Given the description of an element on the screen output the (x, y) to click on. 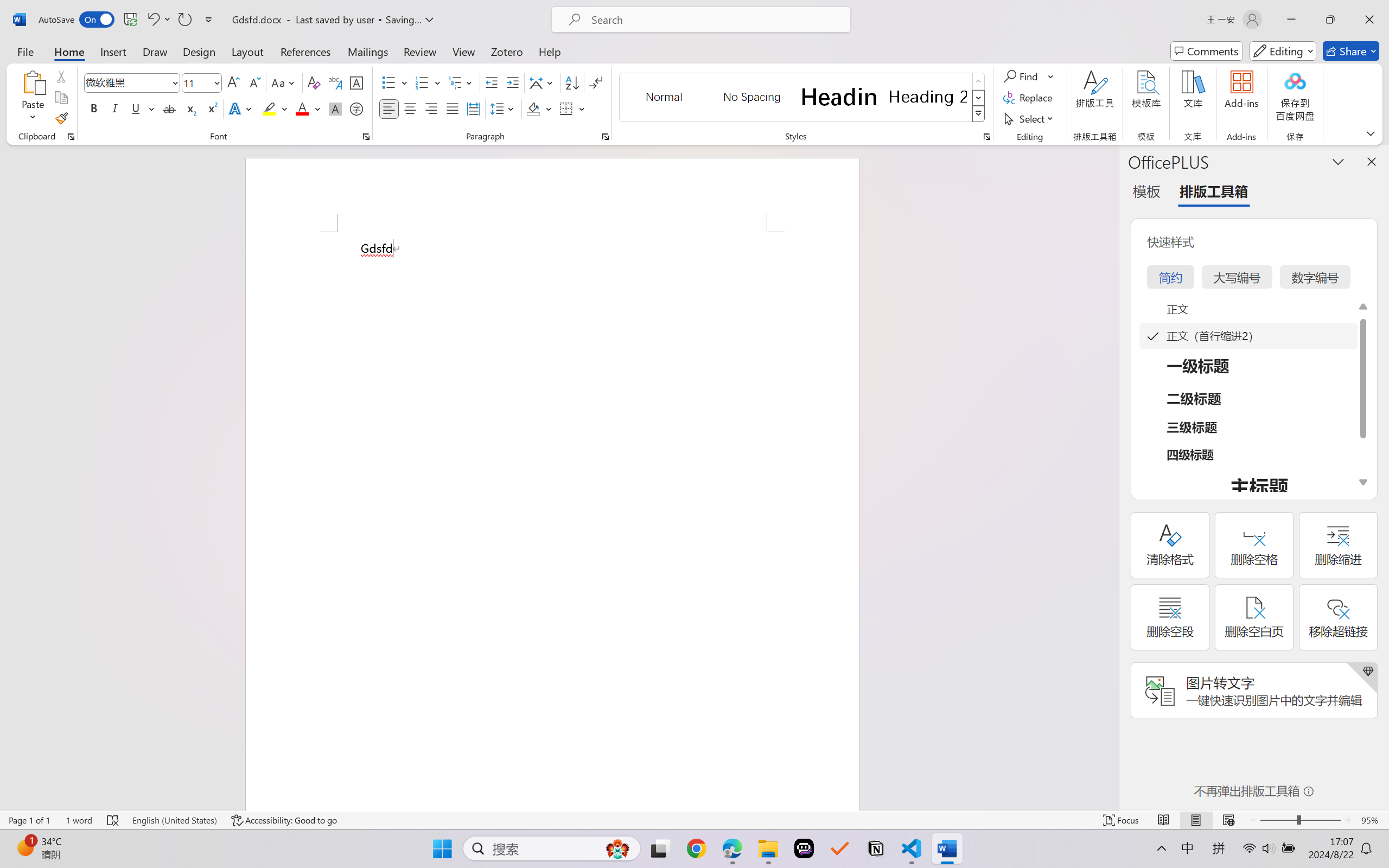
Font Color Red (302, 108)
Zoom 95% (1372, 819)
